Given the description of an element on the screen output the (x, y) to click on. 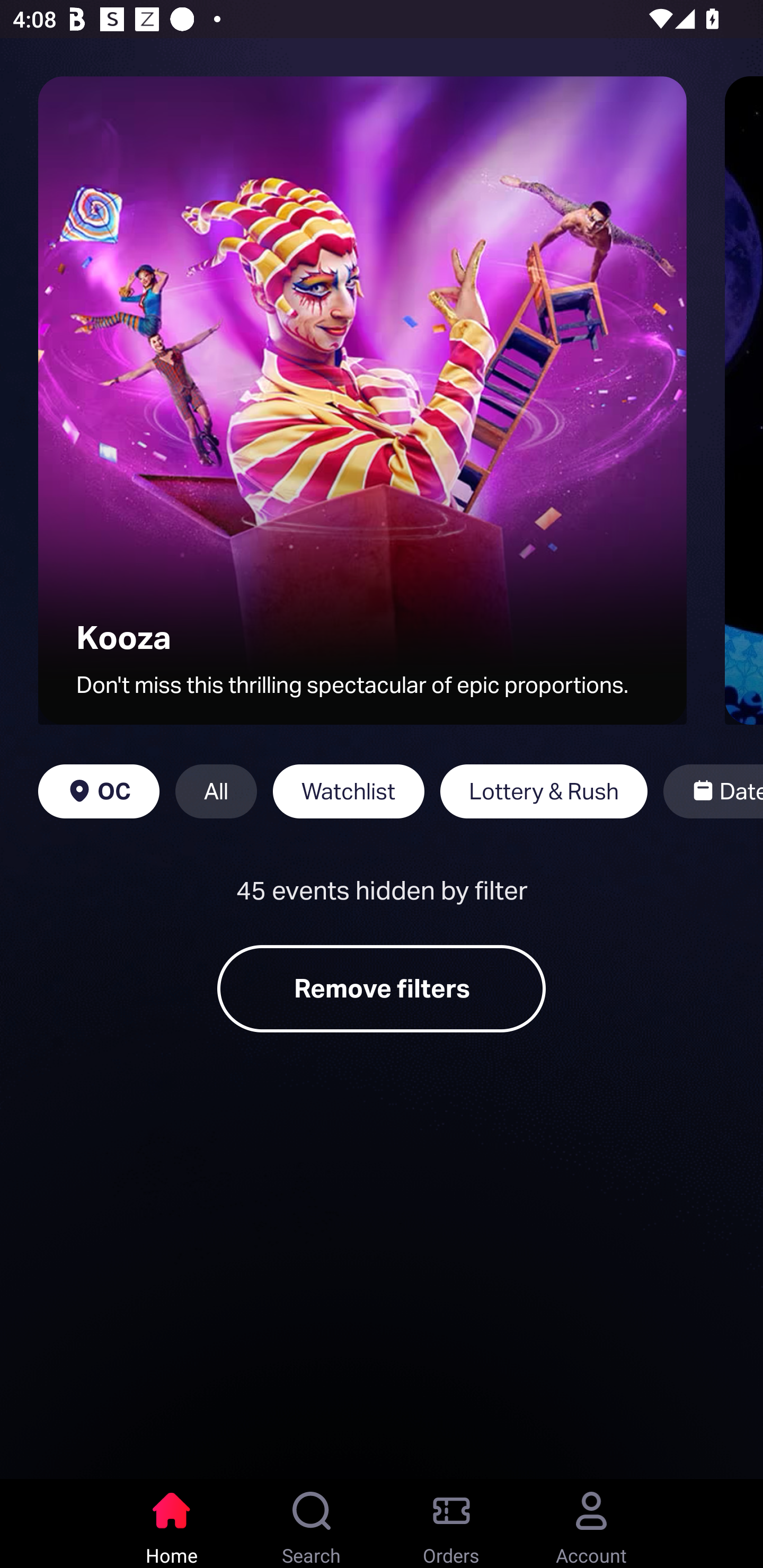
OC (98, 791)
All (216, 791)
Watchlist (348, 791)
Lottery & Rush (543, 791)
Remove filters (381, 988)
Search (311, 1523)
Orders (451, 1523)
Account (591, 1523)
